Given the description of an element on the screen output the (x, y) to click on. 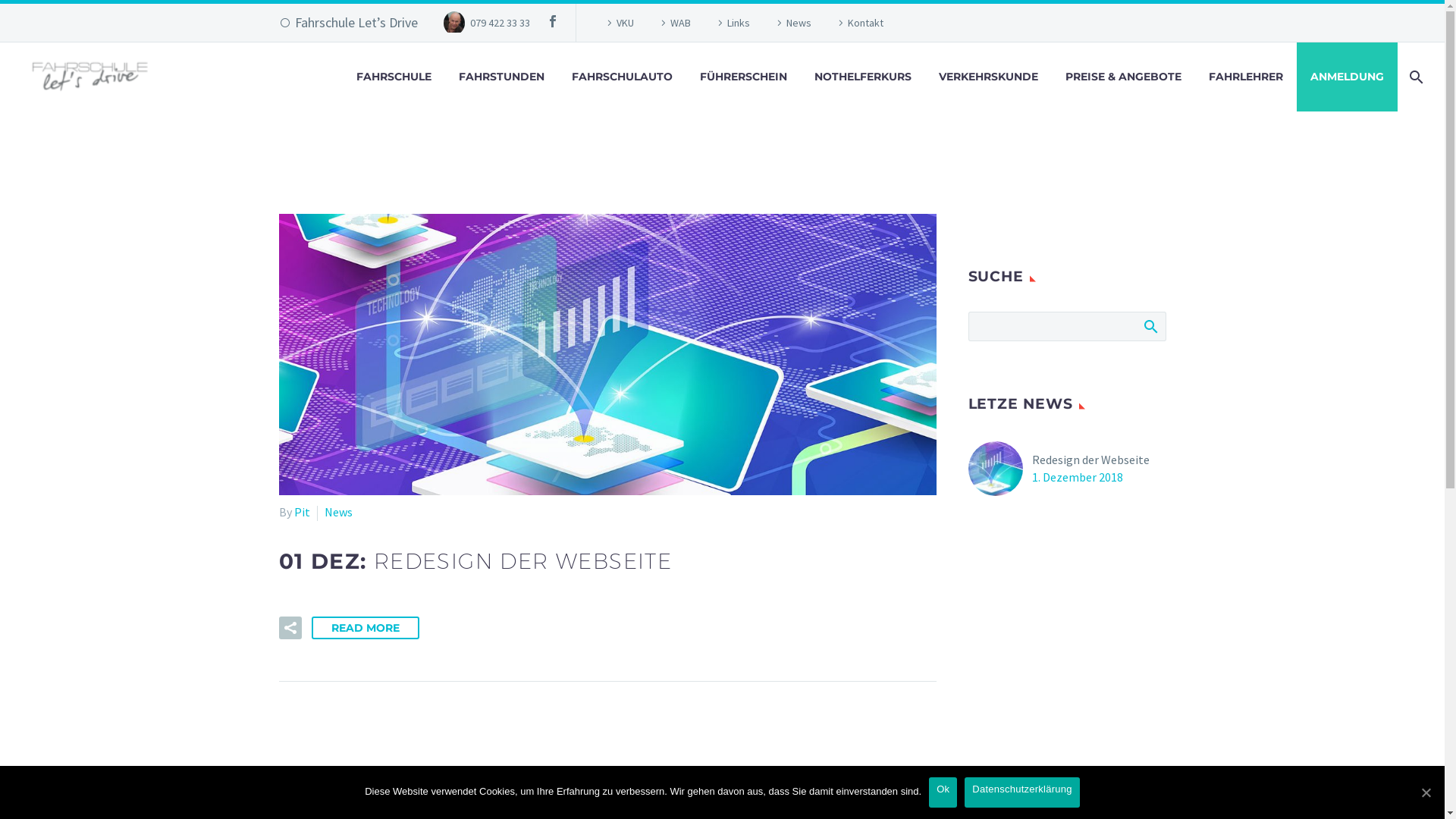
FAHRSCHULAUTO Element type: text (622, 76)
Links Element type: text (731, 22)
01 DEZ: REDESIGN DER WEBSEITE Element type: text (475, 561)
FAHRSCHULE Element type: text (393, 76)
Ok Element type: text (942, 792)
WAB Element type: text (673, 22)
facebook Element type: hover (552, 21)
READ MORE Element type: text (364, 627)
Redesign der Webseite Element type: text (1089, 459)
Kontakt Element type: text (858, 22)
SEARCH Element type: text (1148, 325)
Pit Element type: text (302, 510)
ANMELDUNG Element type: text (1347, 76)
News Element type: text (338, 510)
FAHRSTUNDEN Element type: text (501, 76)
VERKEHRSKUNDE Element type: text (988, 76)
PREISE & ANGEBOTE Element type: text (1123, 76)
News Element type: text (791, 22)
NOTHELFERKURS Element type: text (862, 76)
FAHRLEHRER Element type: text (1245, 76)
VKU Element type: text (617, 22)
